Given the description of an element on the screen output the (x, y) to click on. 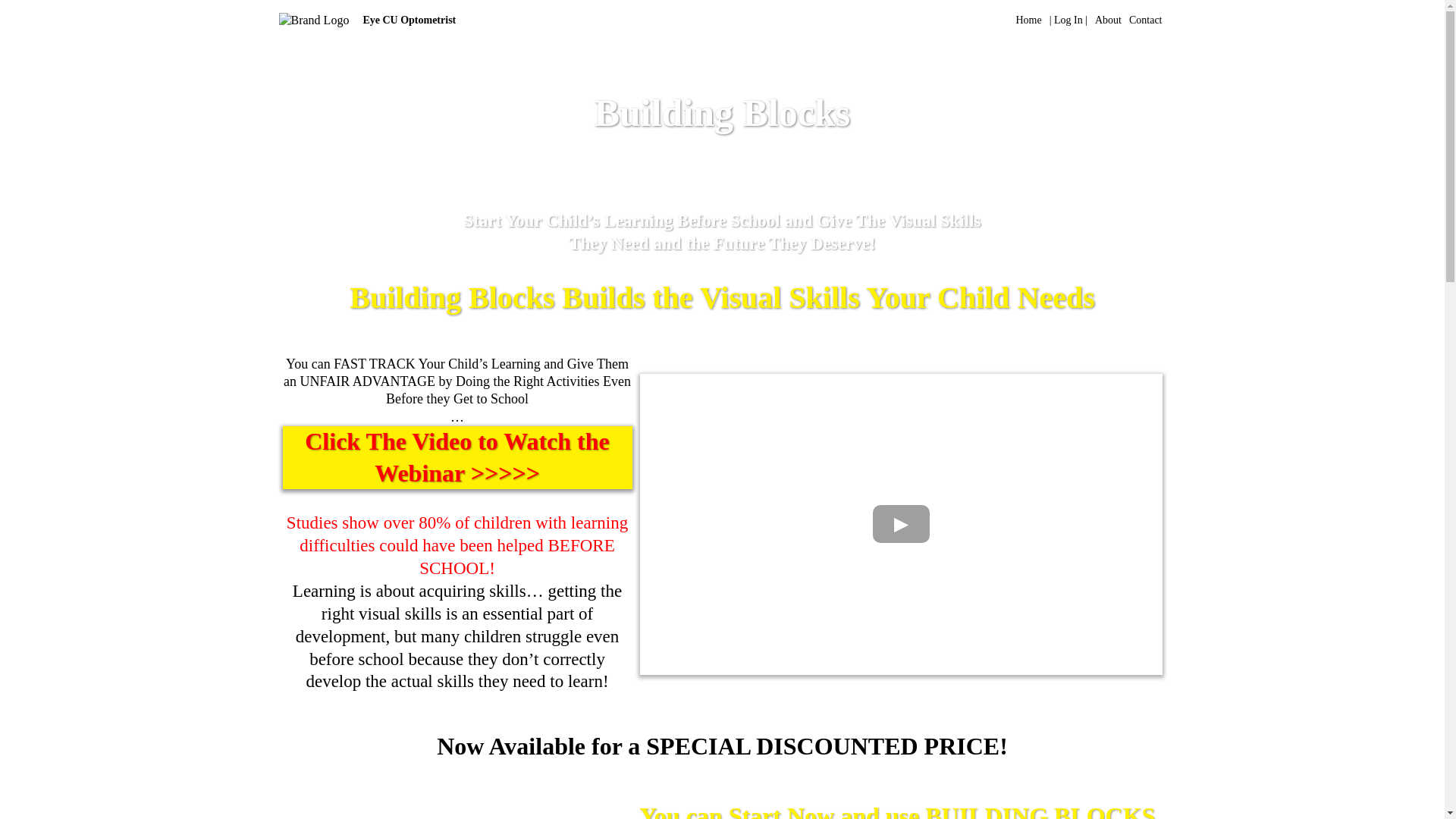
Contact (1145, 20)
About (1107, 20)
Home (1028, 20)
